Given the description of an element on the screen output the (x, y) to click on. 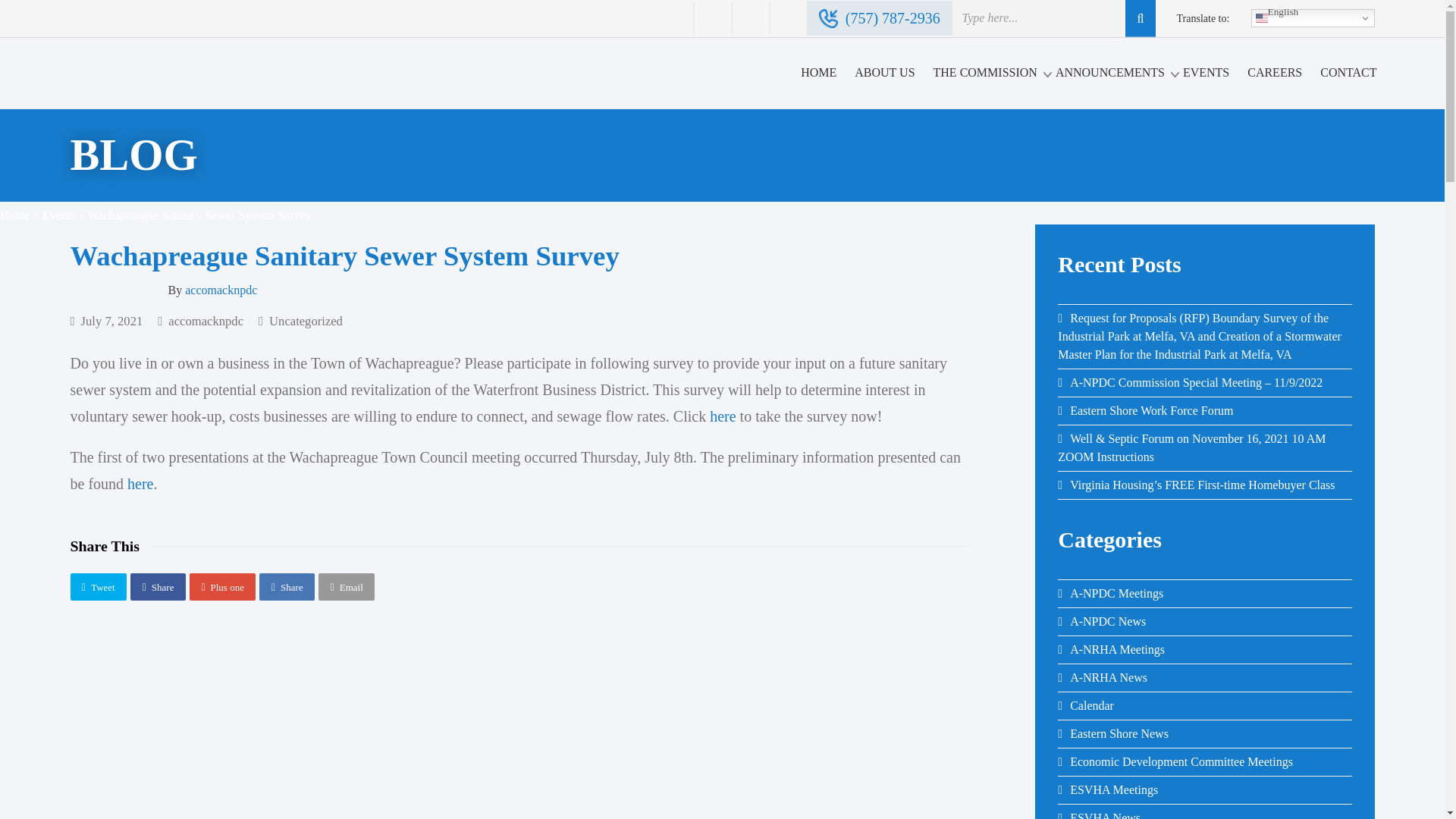
here (722, 416)
CAREERS (1274, 72)
HOME (818, 72)
ANNOUNCEMENTS (1109, 72)
Events (58, 214)
EVENTS (1205, 72)
Posts by accomacknpdc (205, 320)
English (1312, 18)
ABOUT US (884, 72)
Uncategorized (305, 320)
Uncategorized (305, 320)
Eastern Shore Work Force Forum (1145, 410)
Plus one (222, 586)
THE COMMISSION (985, 72)
Home (14, 214)
